Given the description of an element on the screen output the (x, y) to click on. 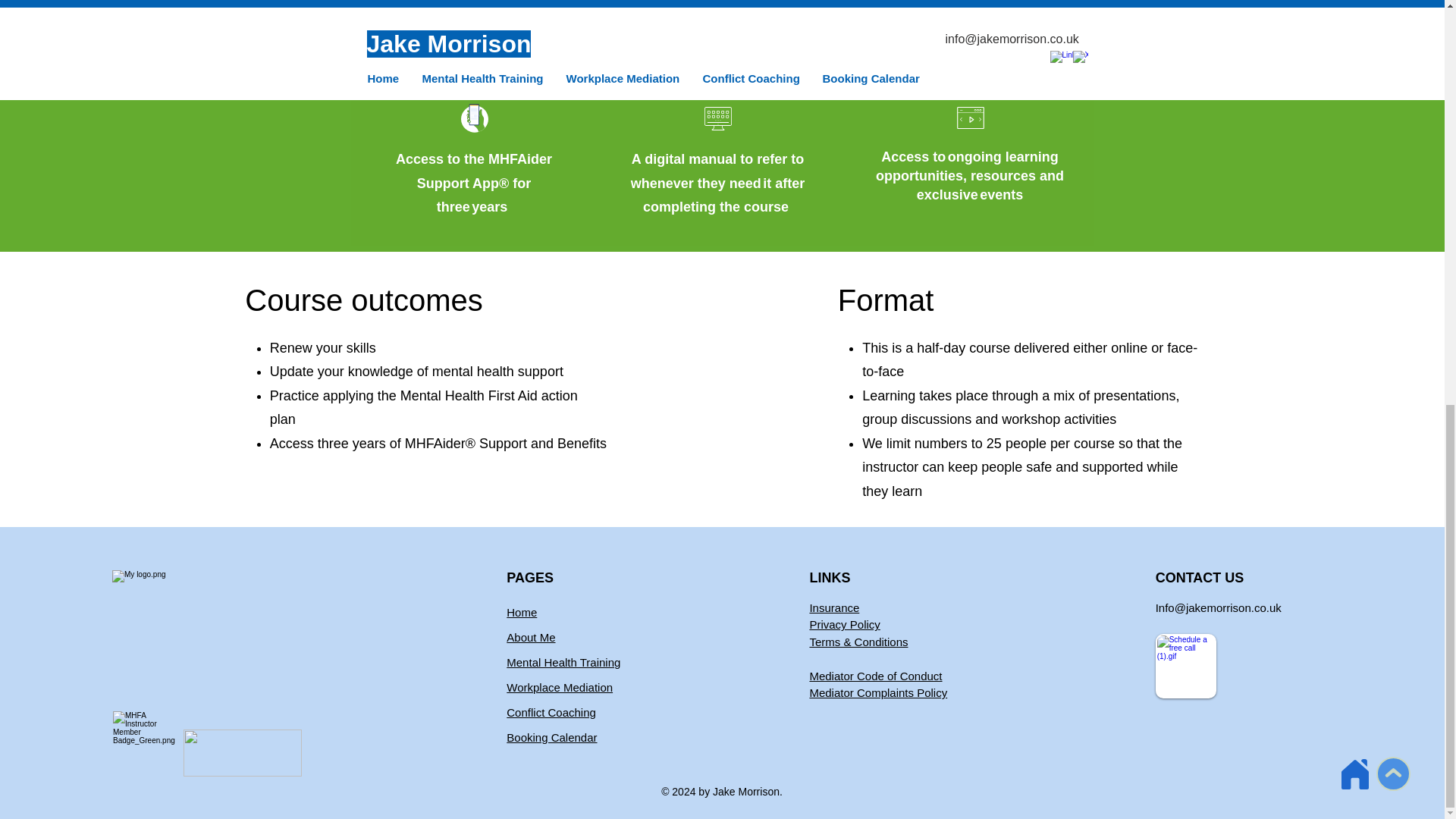
Privacy Policy (844, 624)
Insurance (834, 607)
About Me (530, 636)
Mediator Code of Conduct (875, 675)
Home (521, 612)
Conflict Coaching (550, 712)
Mental Health Training (563, 662)
Booking Calendar (551, 737)
Workplace Mediation (559, 686)
Mediator Complaints Policy (878, 692)
